Given the description of an element on the screen output the (x, y) to click on. 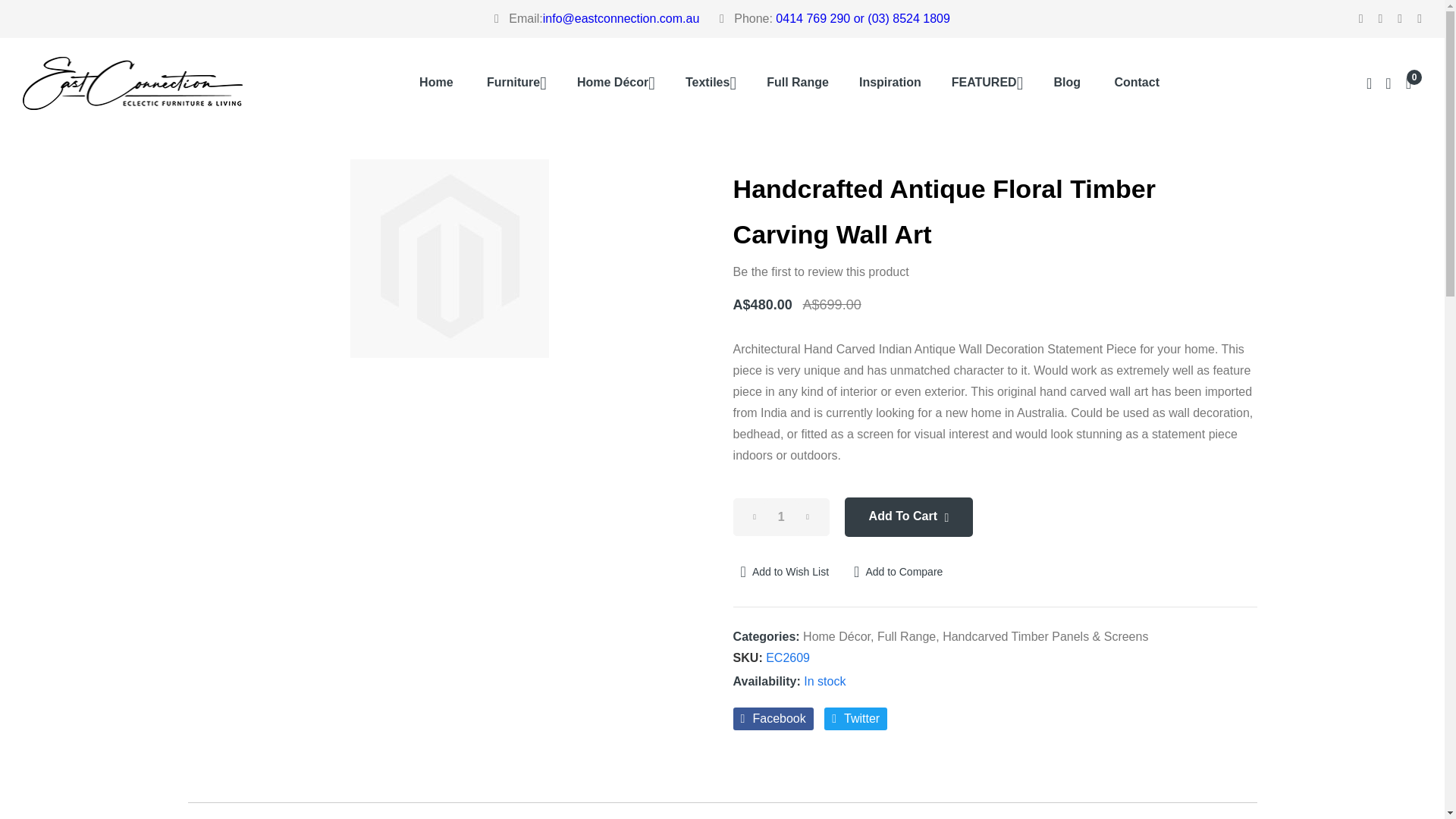
Quantity (780, 517)
Home (435, 83)
Furniture (516, 83)
Availability (789, 681)
Add to Cart (909, 517)
1 (780, 517)
